Given the description of an element on the screen output the (x, y) to click on. 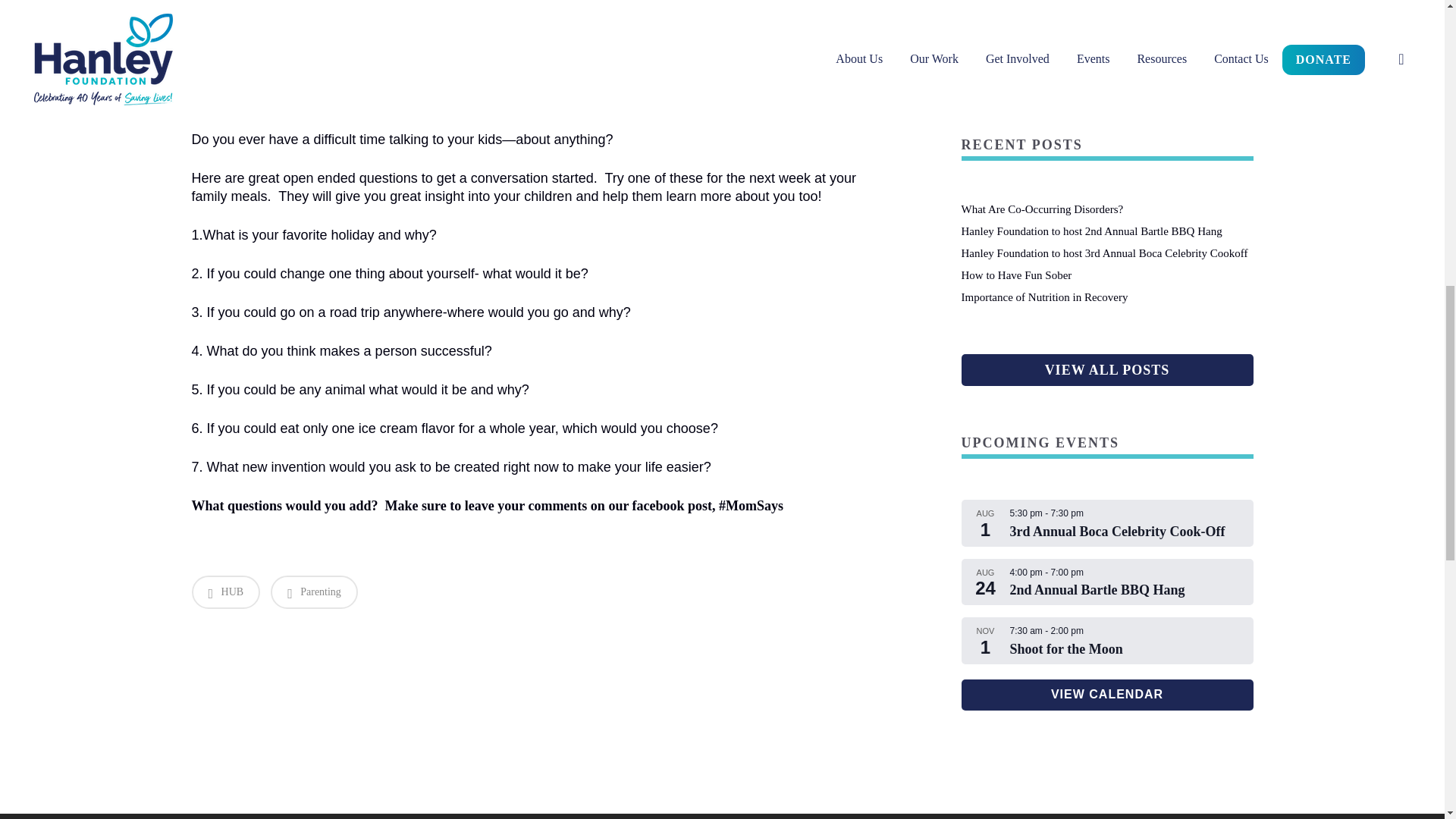
Shoot for the Moon (1066, 649)
View more events. (1106, 694)
2nd Annual Bartle BBQ Hang (1097, 590)
3rd Annual Boca Celebrity Cook-Off (1117, 531)
